Given the description of an element on the screen output the (x, y) to click on. 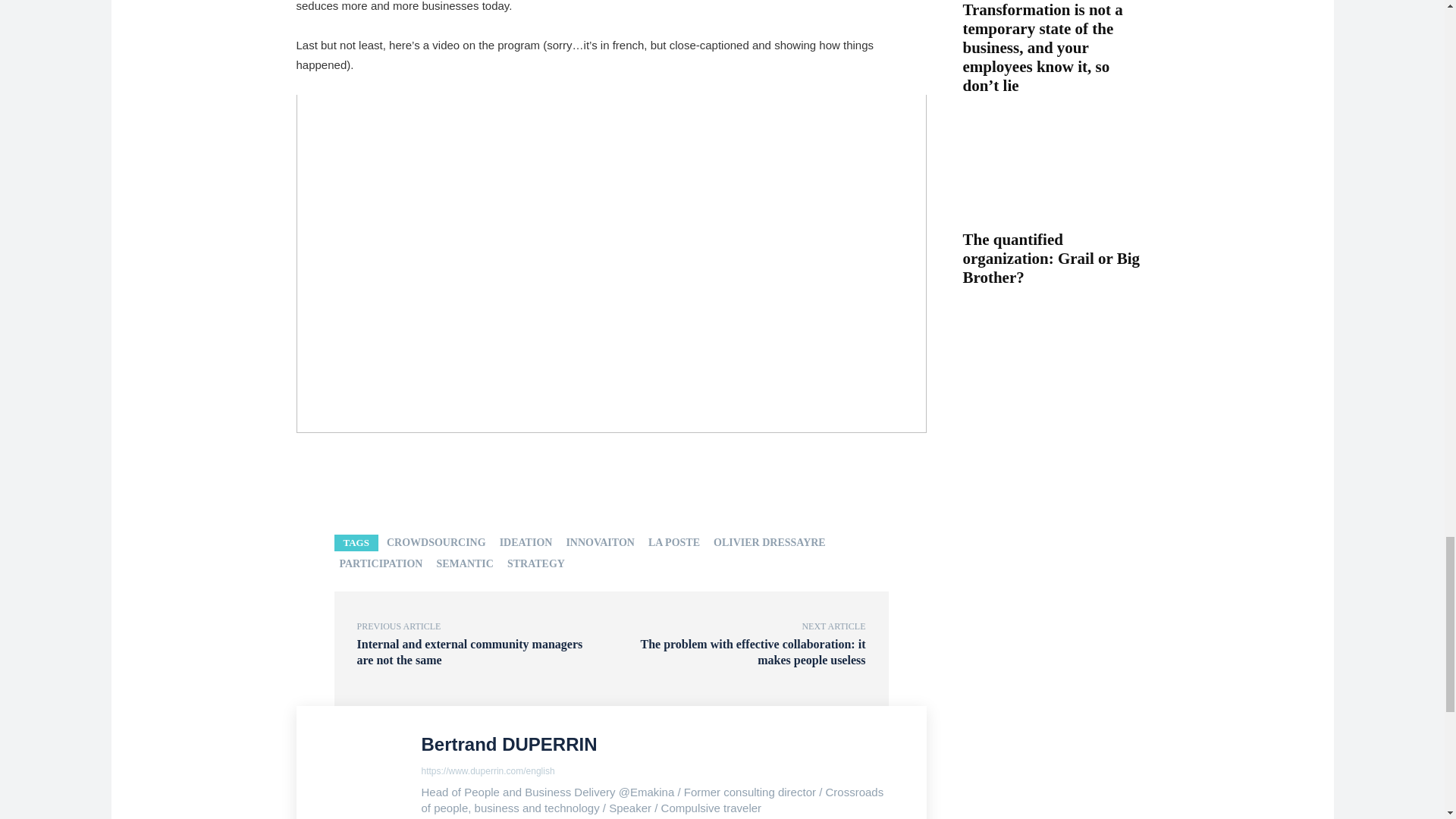
The quantified organization: Grail or Big Brother? (1055, 173)
Bertrand DUPERRIN (362, 773)
